Given the description of an element on the screen output the (x, y) to click on. 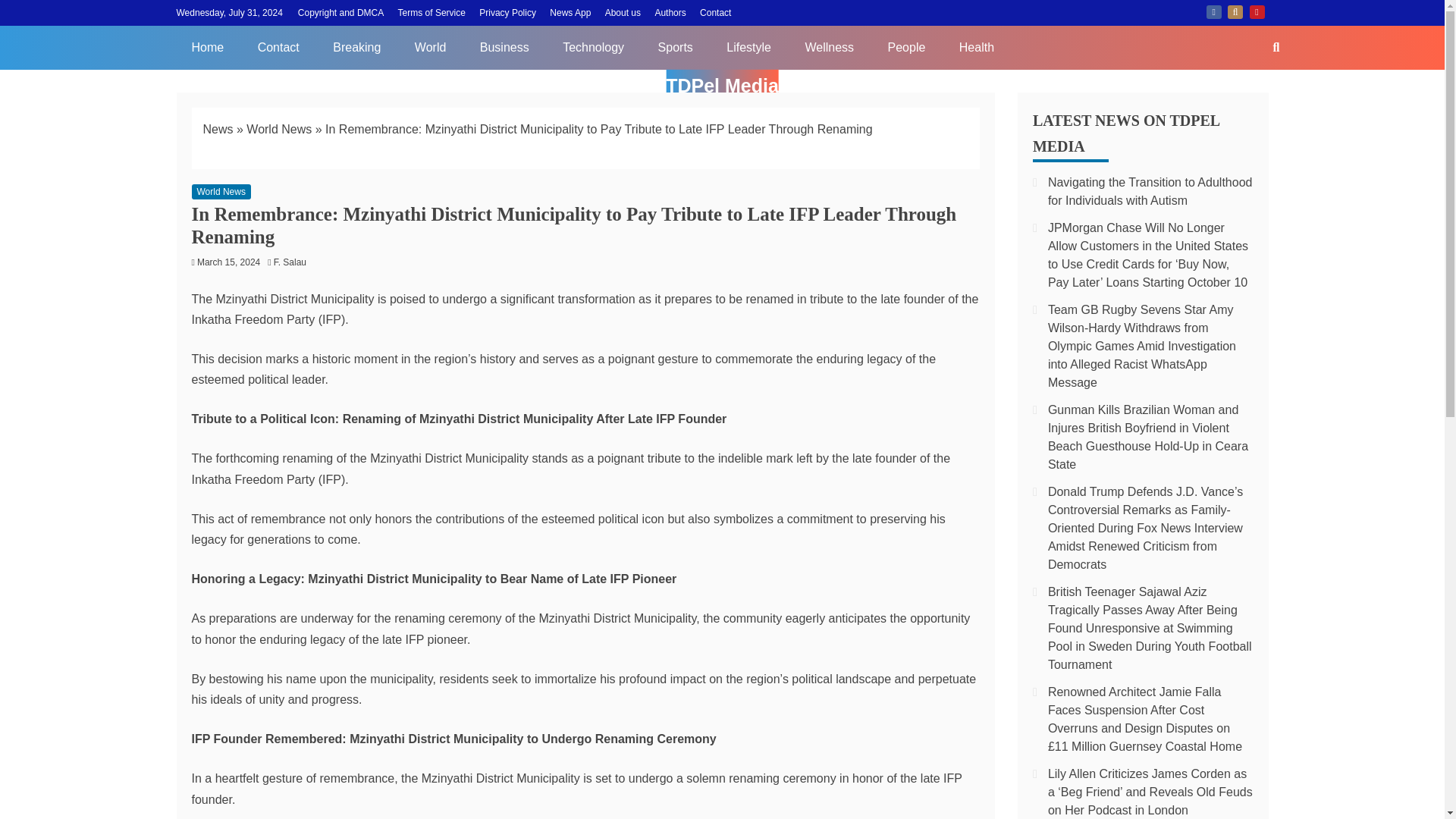
Home (207, 46)
Authors (669, 12)
World News (278, 128)
About us (622, 12)
People (906, 46)
Contact (715, 12)
Contact (278, 46)
Wellness (829, 46)
Facebook (1214, 11)
F. Salau (293, 262)
News (217, 128)
World News (220, 191)
Twitter (1235, 11)
Lifestyle (748, 46)
Pinterest (1257, 11)
